Given the description of an element on the screen output the (x, y) to click on. 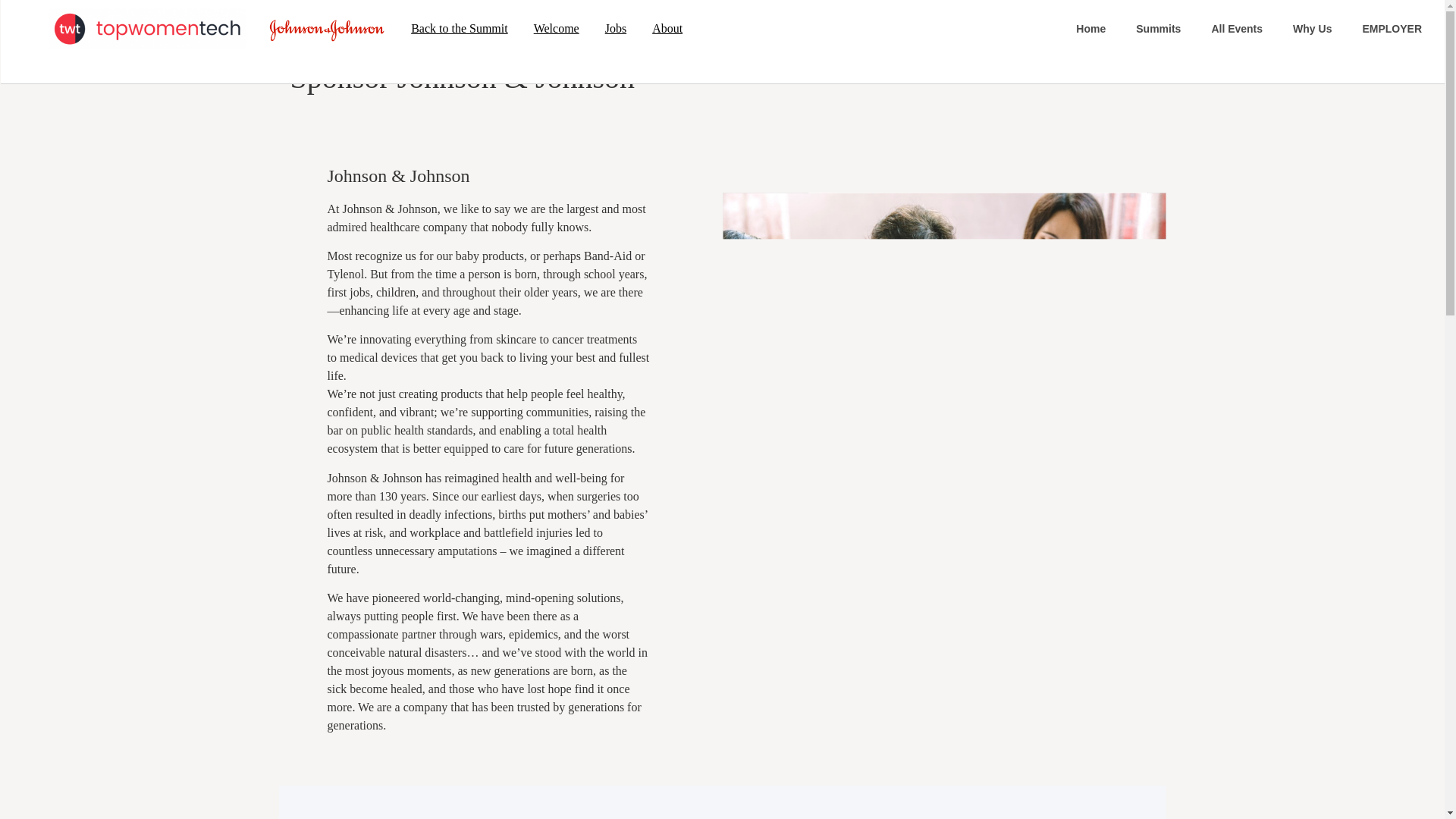
Back to the Summit (458, 28)
EMPLOYER (1391, 28)
About (667, 28)
Back to the Summit (458, 28)
Welcome (556, 28)
Jobs (615, 28)
Welcome (556, 28)
Jobs (615, 28)
All Events (1236, 28)
Home (1091, 28)
